Given the description of an element on the screen output the (x, y) to click on. 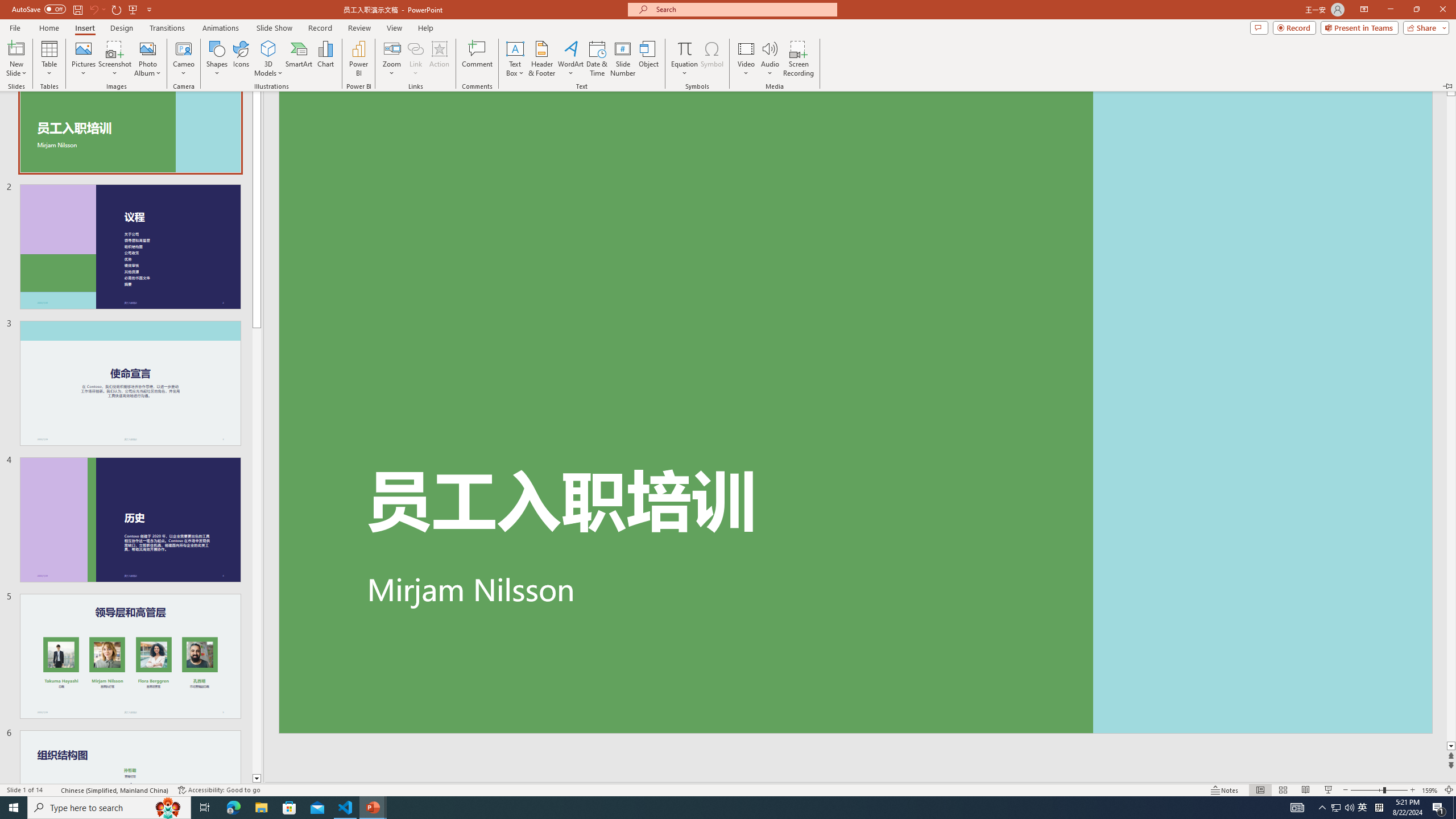
Zoom 159% (1430, 790)
PowerPoint - 2 running windows (373, 807)
